Given the description of an element on the screen output the (x, y) to click on. 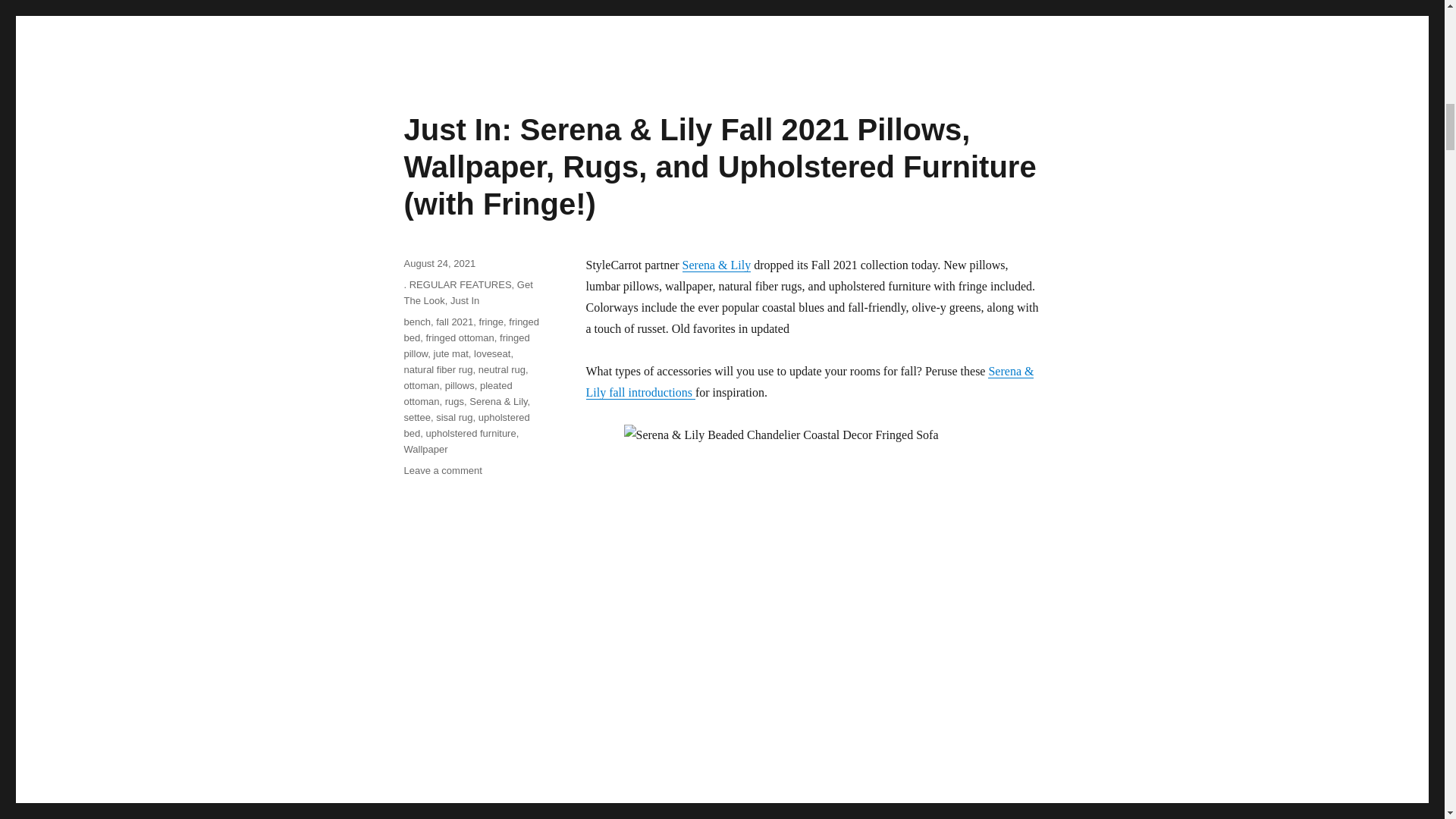
Click to email a link to a friend (990, 4)
Click to share on Pinterest (772, 4)
Tumblr (847, 4)
Pinterest (772, 4)
Email (990, 4)
Twitter (616, 4)
LinkedIn (920, 4)
Click to share on Twitter (616, 4)
Facebook (691, 4)
Click to share on LinkedIn (920, 4)
Click to share on Facebook (691, 4)
Click to share on Tumblr (847, 4)
